Given the description of an element on the screen output the (x, y) to click on. 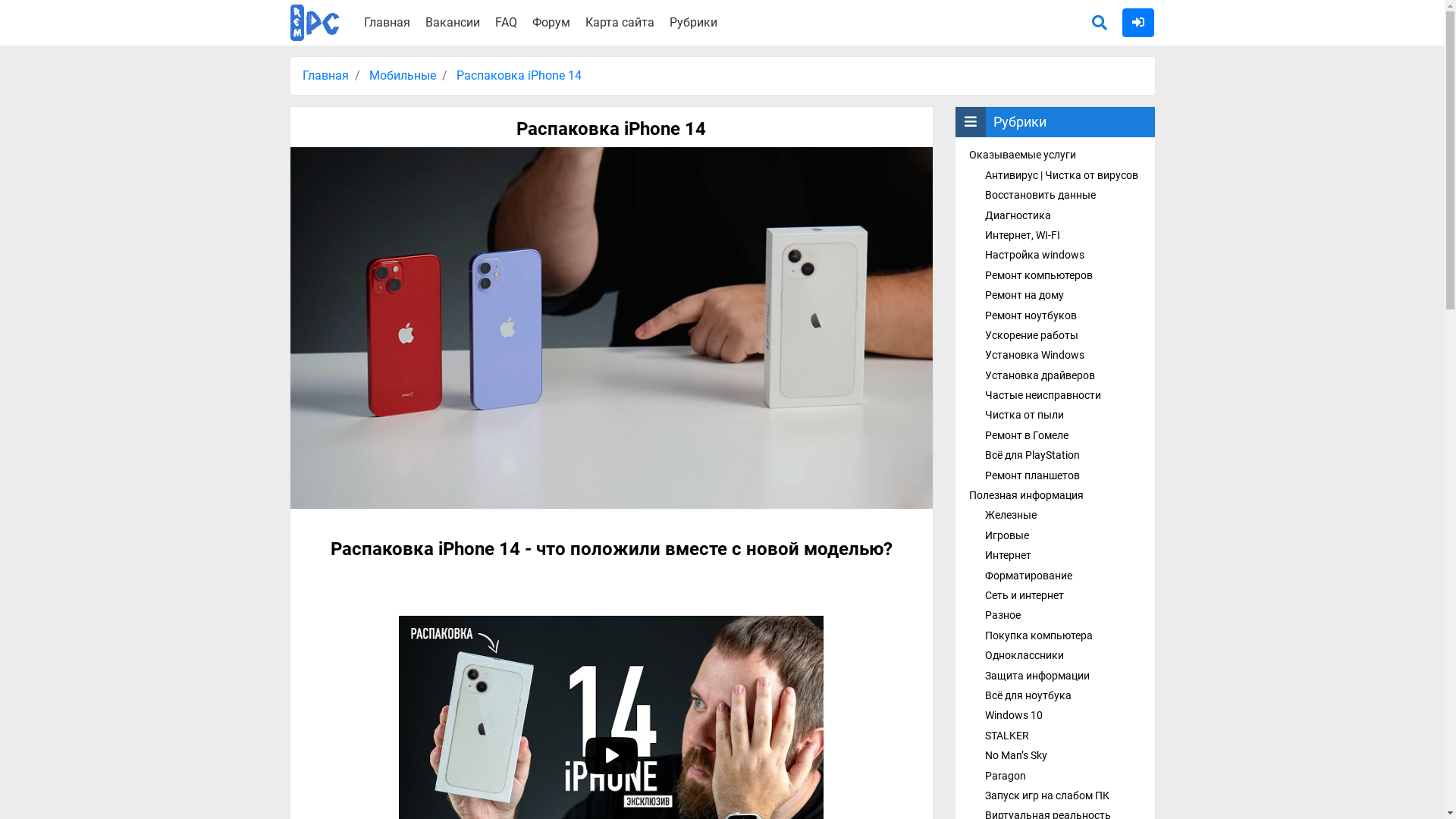
Windows 10 Element type: text (1013, 715)
STALKER Element type: text (1007, 735)
FAQ Element type: text (506, 22)
Paragon Element type: text (1005, 774)
